Given the description of an element on the screen output the (x, y) to click on. 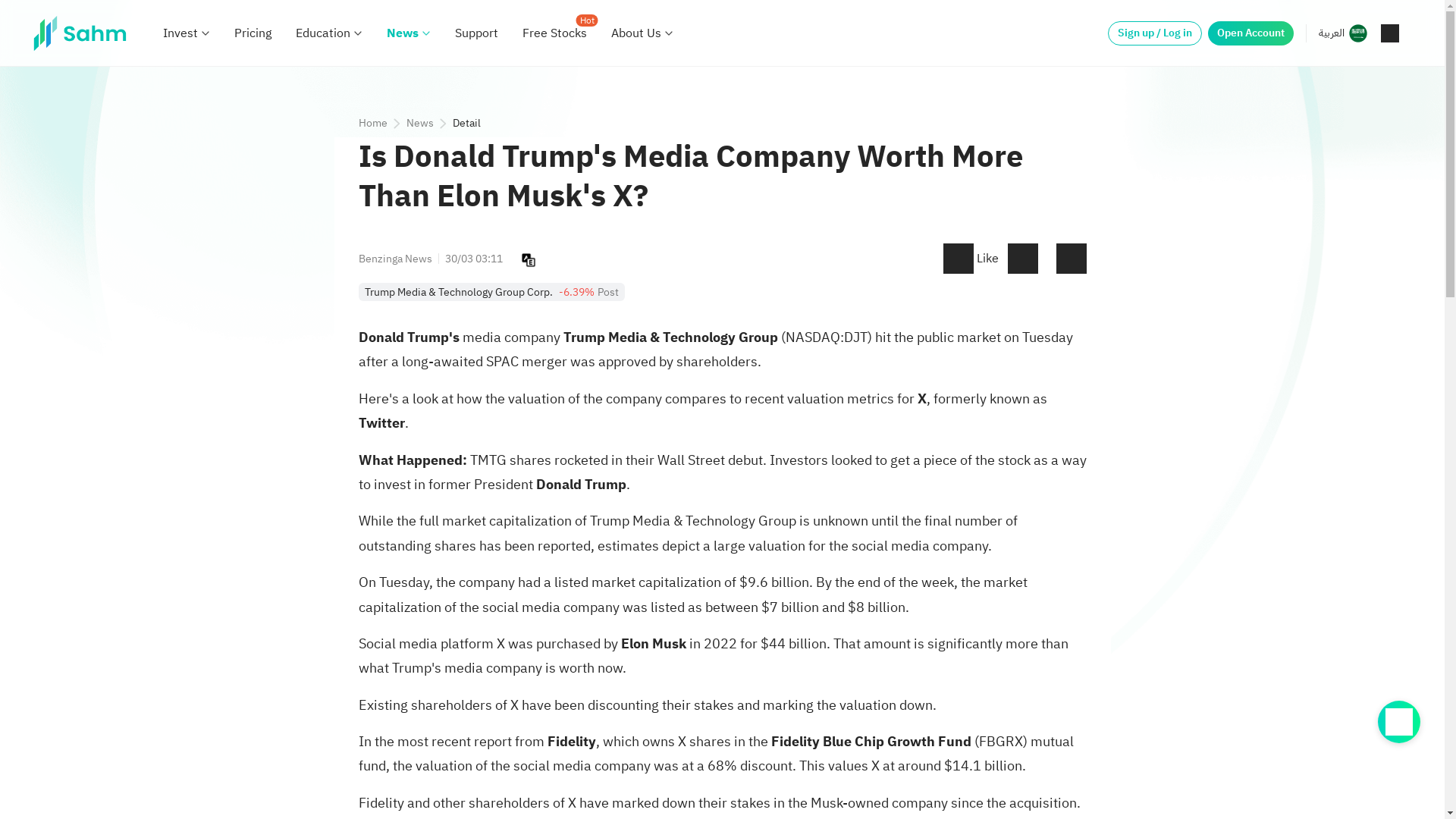
Support (475, 33)
About Us (636, 33)
Invest (180, 33)
Education (322, 33)
Pricing (252, 33)
News (403, 33)
Invest (180, 33)
Pricing (252, 33)
Free Stocks (554, 33)
Education (322, 33)
